Given the description of an element on the screen output the (x, y) to click on. 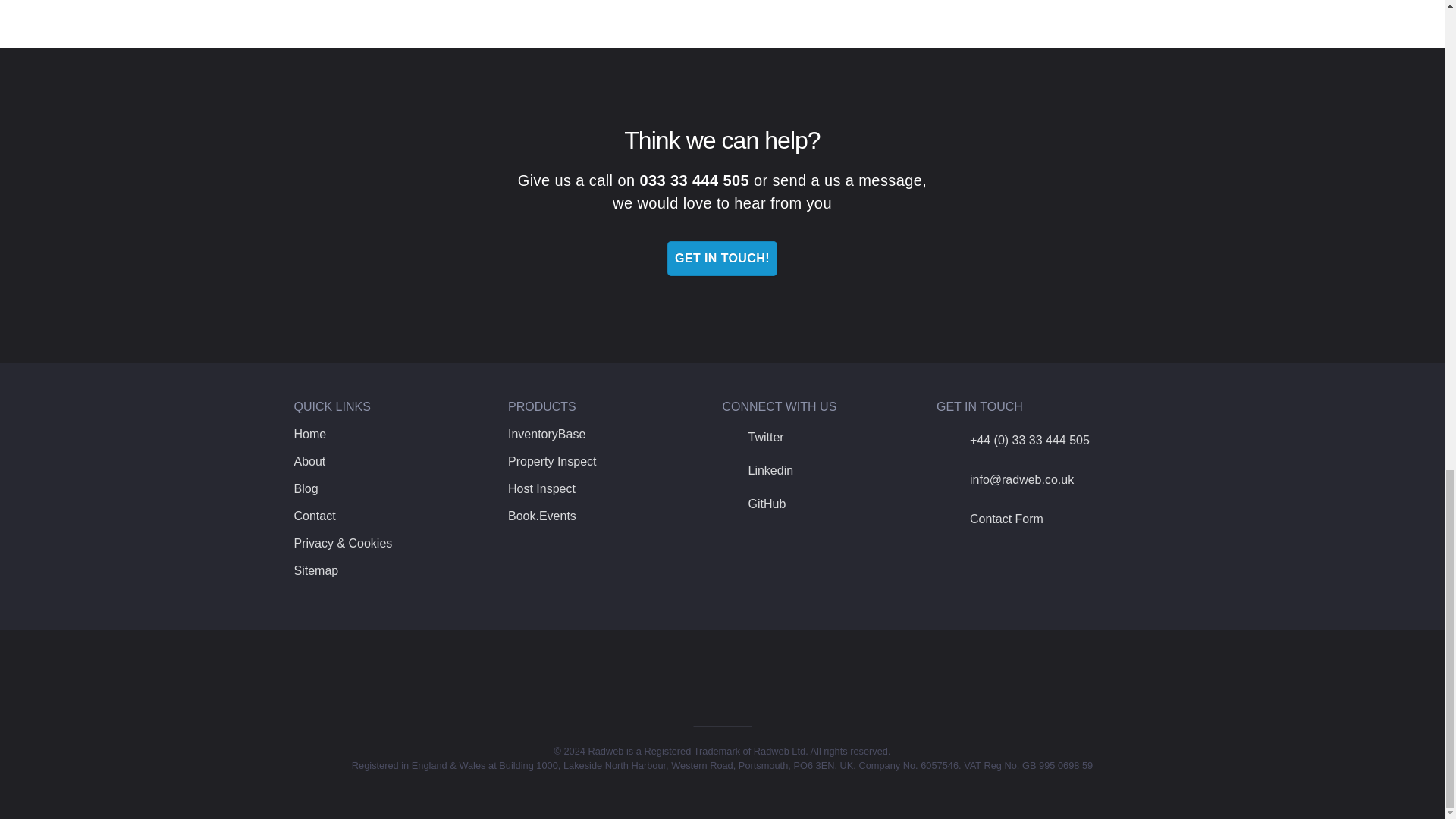
Call us on 03333 444 505 (1012, 440)
About (310, 461)
Property Inspect (552, 461)
Home (310, 433)
Twitter (752, 436)
Sitemap (316, 570)
InventoryBase (546, 433)
Email us (1005, 479)
Follow us on Twitter (752, 436)
Host Inspect (541, 488)
GitHub (754, 503)
Linkedin (757, 470)
Find us on Linkedin (757, 470)
Contact Form (989, 518)
Contact (315, 515)
